Given the description of an element on the screen output the (x, y) to click on. 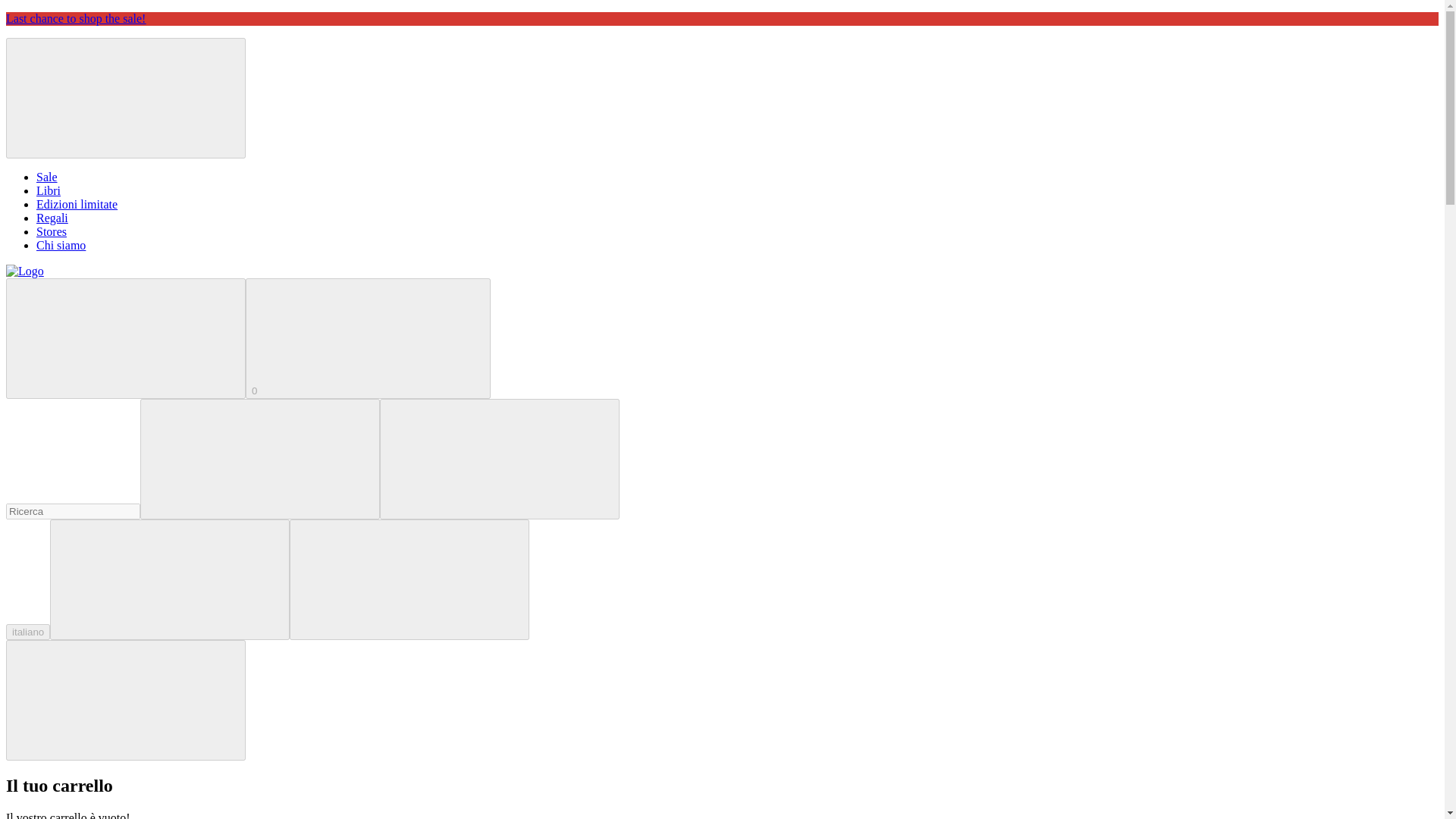
Sale (47, 176)
Libri (48, 190)
Edizioni limitate (76, 204)
0 (368, 338)
Last chance to shop the sale! (75, 18)
Chi siamo (60, 245)
Regali (52, 217)
italiano (27, 631)
Stores (51, 231)
Perfavore compila questo campo. (72, 511)
